Given the description of an element on the screen output the (x, y) to click on. 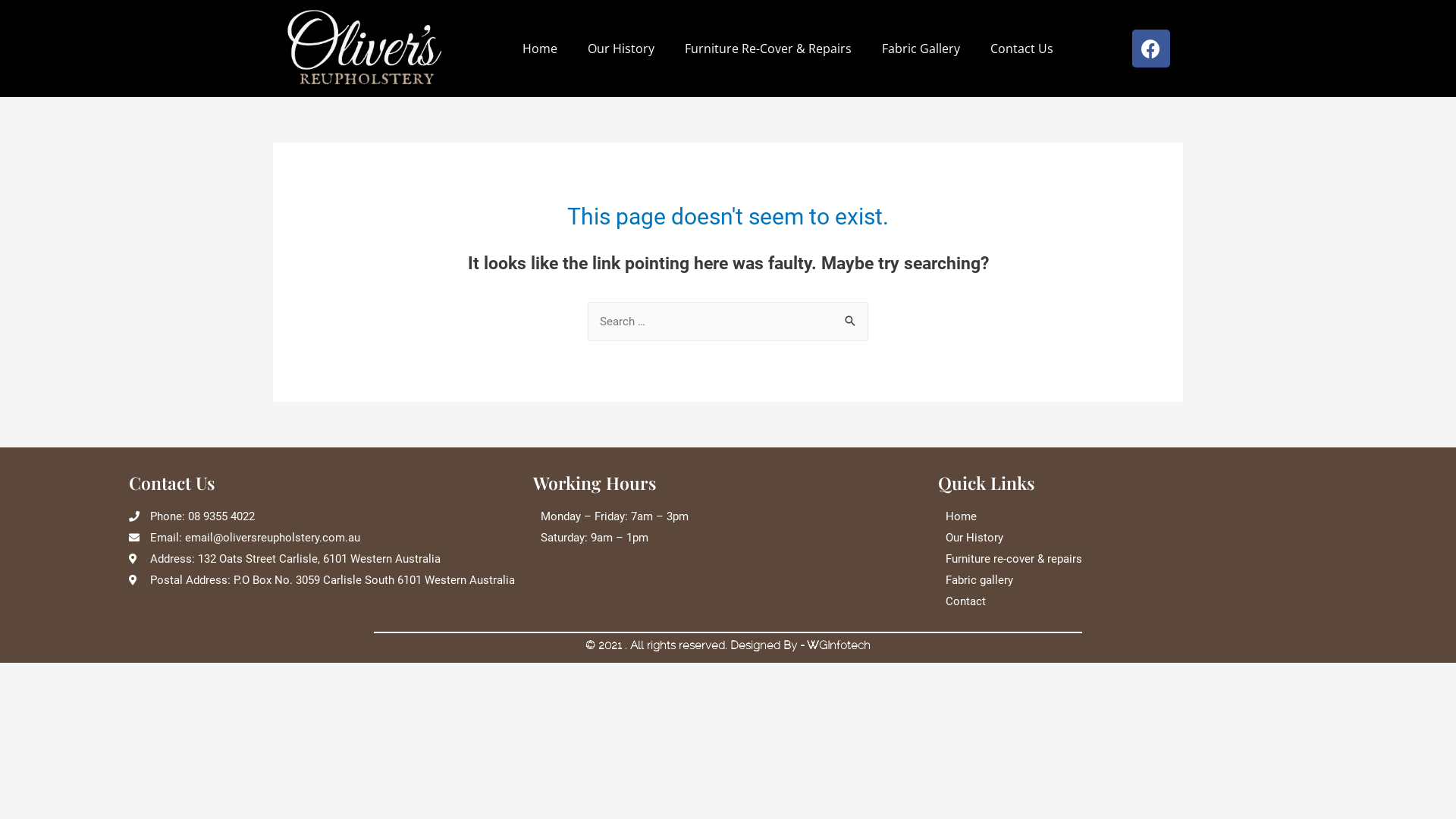
Phone: 08 9355 4022 Element type: text (322, 516)
Our History Element type: text (1132, 538)
Furniture re-cover & repairs Element type: text (1132, 559)
Email: email@oliversreupholstery.com.au Element type: text (322, 538)
Fabric Gallery Element type: text (920, 48)
Our History Element type: text (620, 48)
Search Element type: text (851, 321)
Home Element type: text (539, 48)
Contact Element type: text (1132, 601)
Contact Us Element type: text (1021, 48)
Home Element type: text (1132, 516)
Fabric gallery Element type: text (1132, 580)
WGInfotech Element type: text (838, 645)
Furniture Re-Cover & Repairs Element type: text (767, 48)
